Given the description of an element on the screen output the (x, y) to click on. 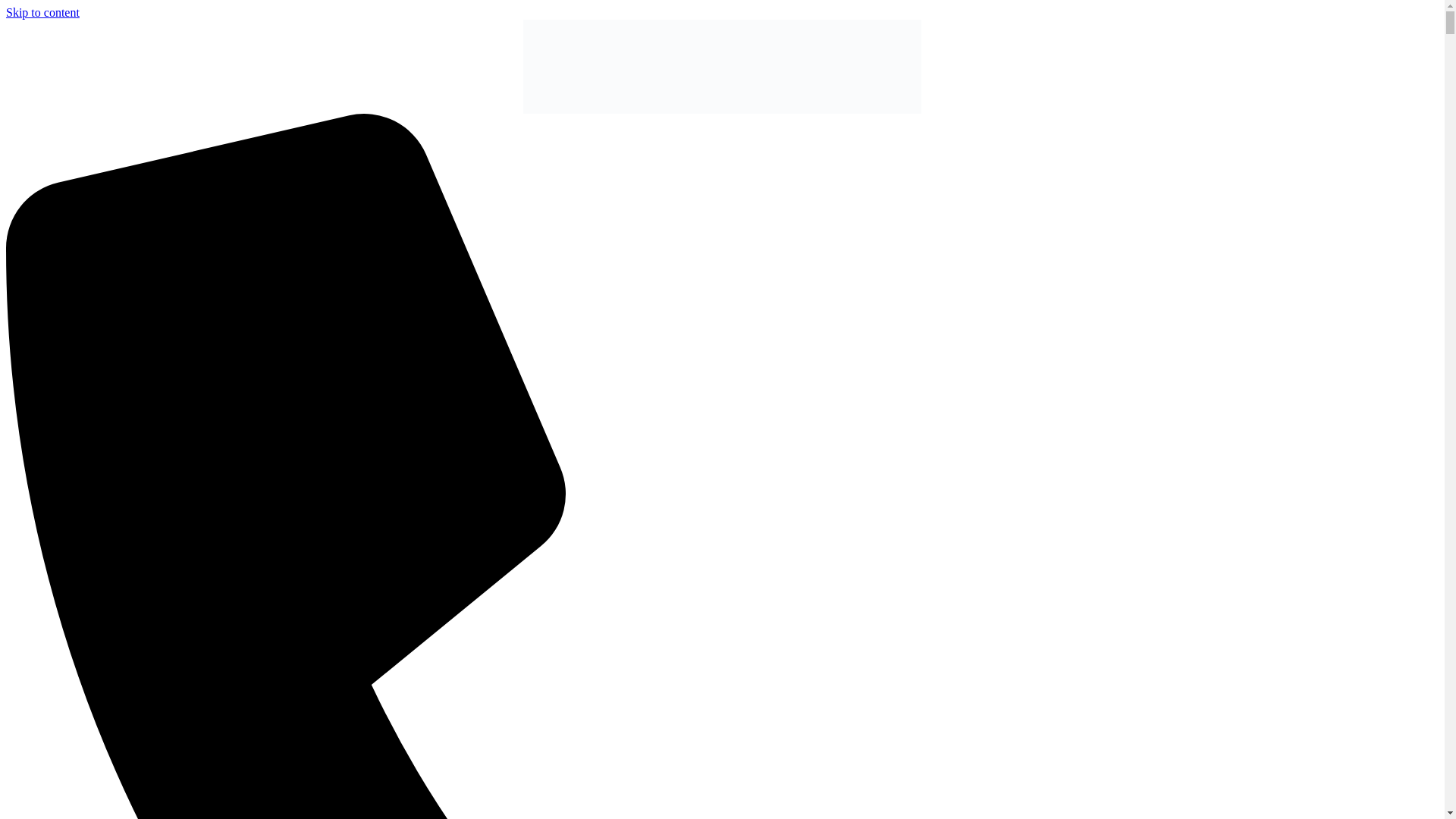
Skip to content (42, 11)
